Given the description of an element on the screen output the (x, y) to click on. 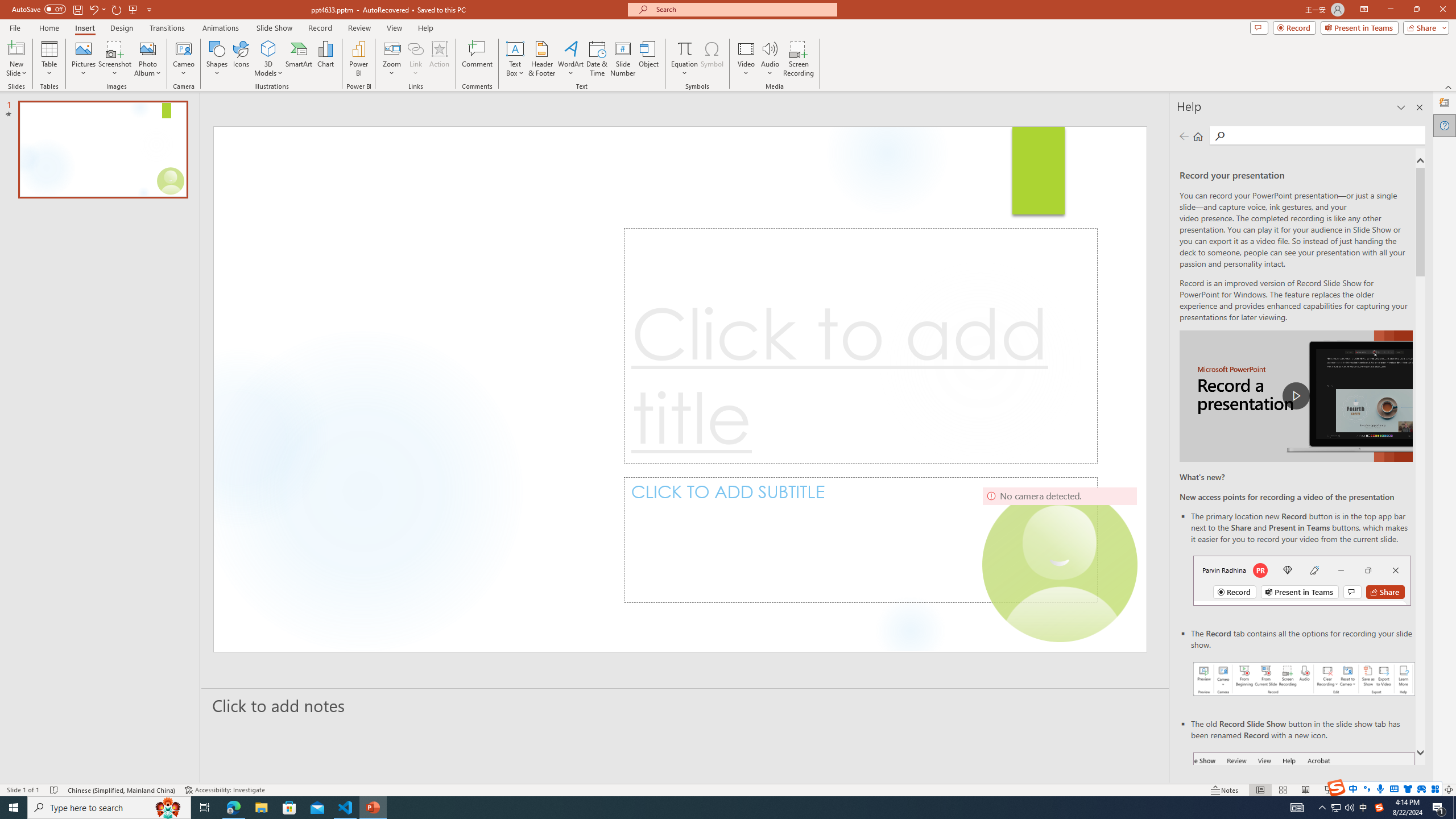
Zoom 129% (1430, 790)
Cameo (183, 48)
Text Box (515, 58)
